Given the description of an element on the screen output the (x, y) to click on. 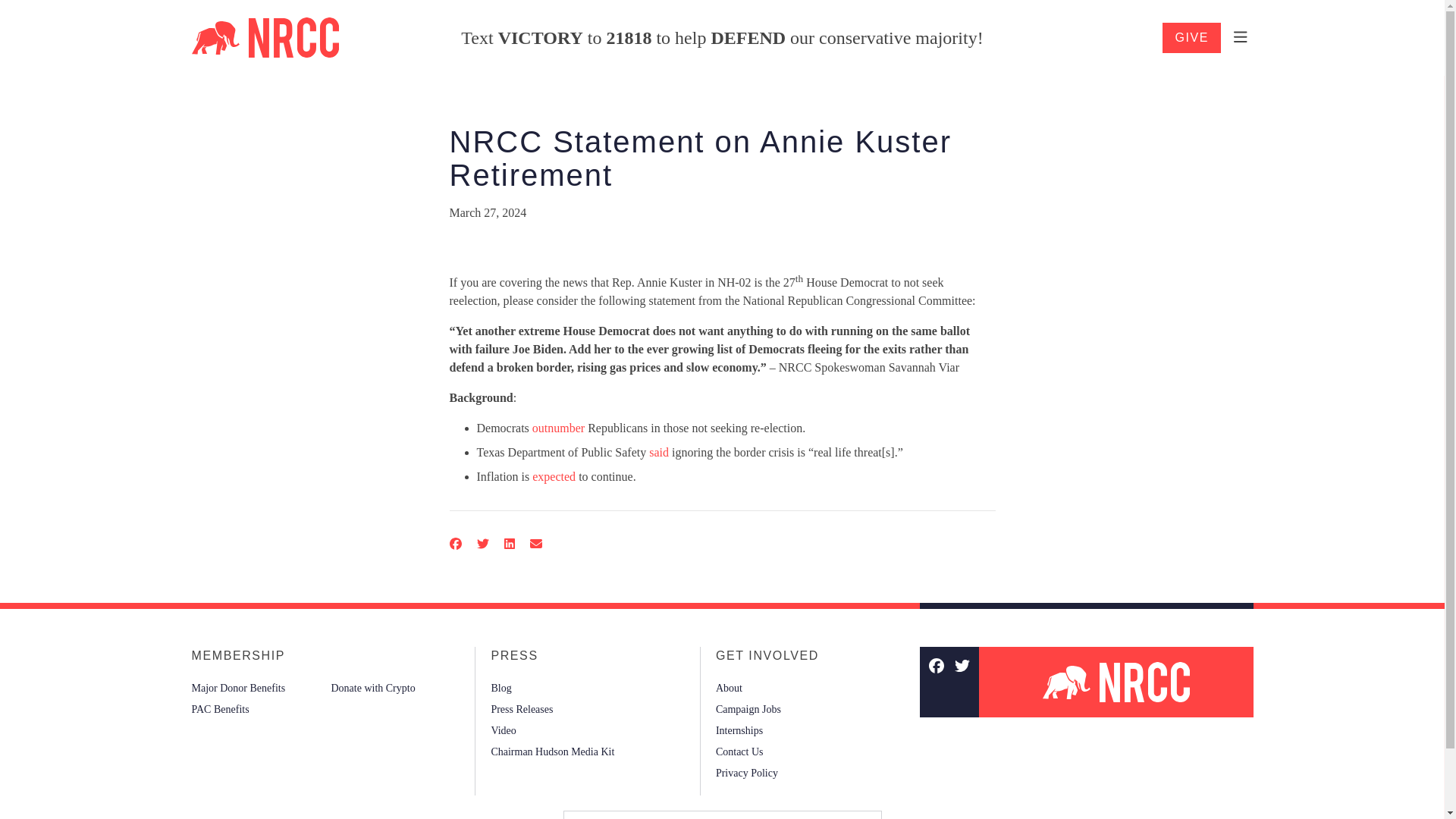
Share via Email (534, 543)
Contact Us (739, 751)
expected (553, 476)
Share on Twitter (482, 543)
Donate with Crypto (372, 687)
Video (502, 730)
Share on Facebook (454, 543)
Privacy Policy (746, 772)
Chairman Hudson Media Kit (552, 751)
Blog (500, 687)
